Given the description of an element on the screen output the (x, y) to click on. 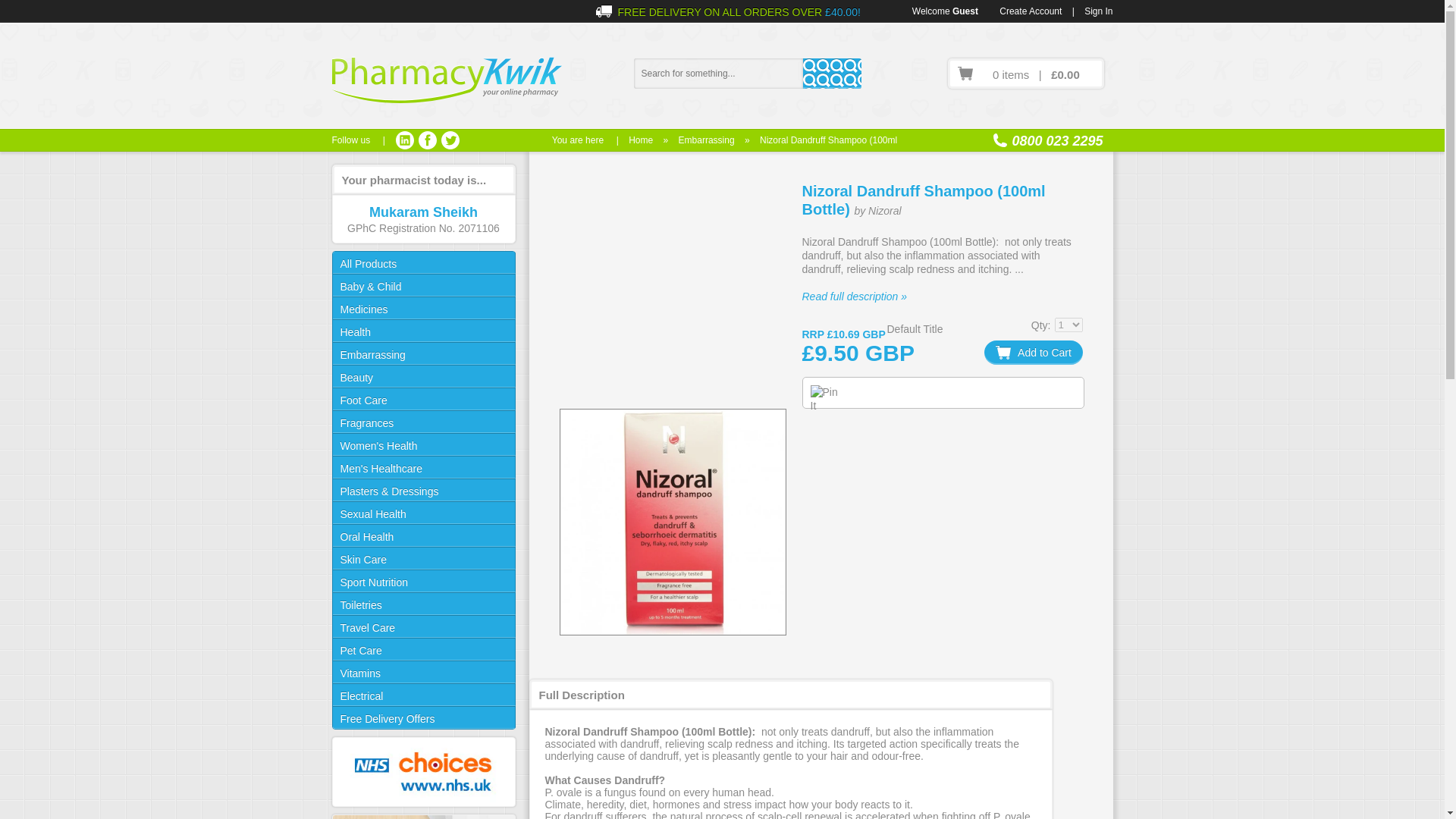
Search (831, 73)
Guest (965, 10)
Embarrassing (706, 140)
Sign In (1098, 10)
NHS Choices Website (422, 771)
GPhC Registration No. 2071106 (423, 227)
All Products (422, 262)
Nizoral (884, 210)
Pin It (826, 398)
Create Account (1029, 10)
Embarrassing (706, 140)
Prescriptions (422, 816)
Add to Cart (1033, 352)
Search (831, 73)
Home (640, 140)
